Given the description of an element on the screen output the (x, y) to click on. 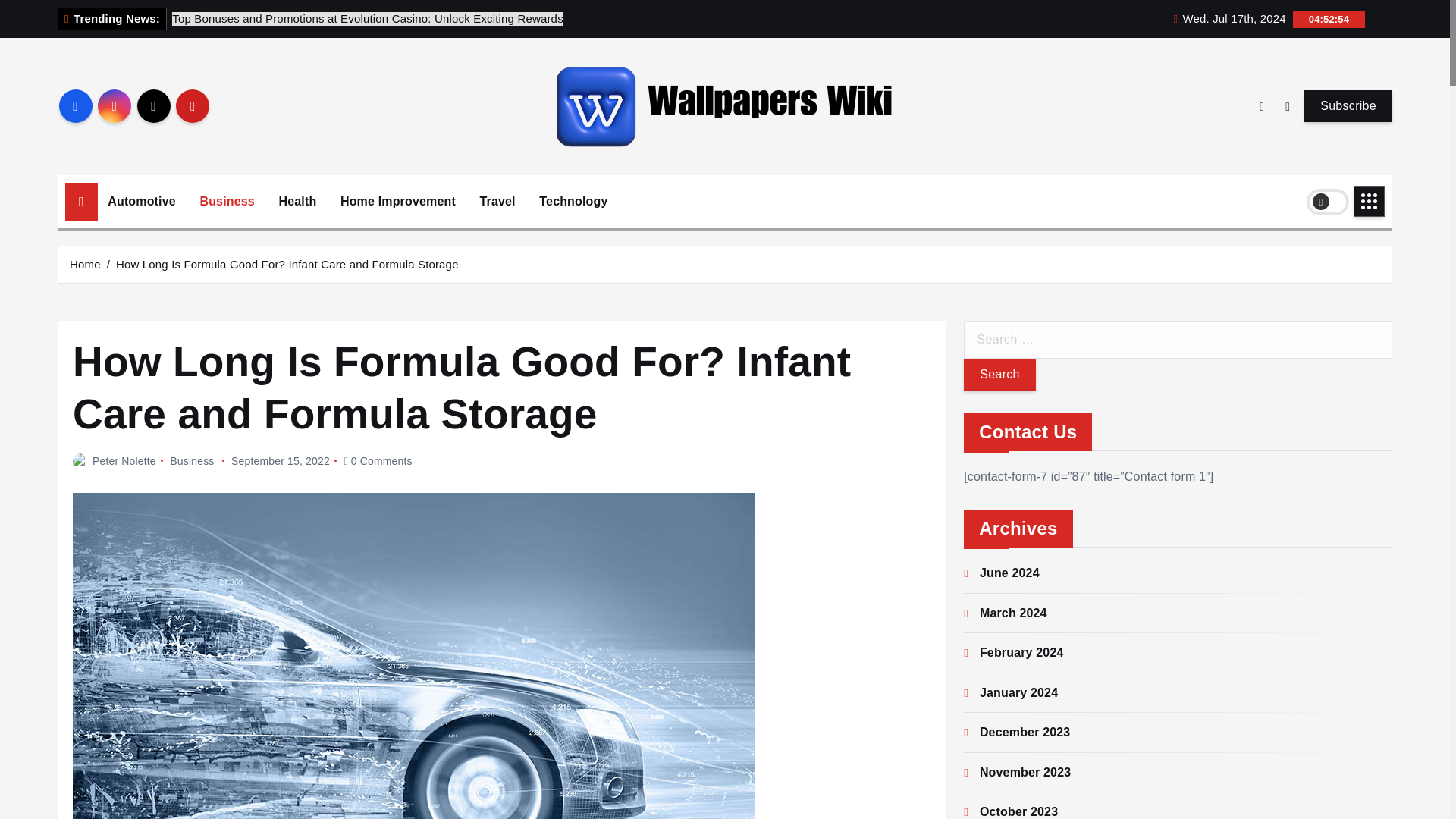
Health (296, 200)
Home Improvement (397, 200)
Peter Nolette (113, 460)
Search (999, 374)
Technology (573, 200)
Home (84, 264)
Travel (497, 200)
Home Improvement (397, 200)
Automotive (141, 200)
Business (226, 200)
Search (999, 374)
Subscribe (1347, 106)
Automotive (141, 200)
Health (296, 200)
